Given the description of an element on the screen output the (x, y) to click on. 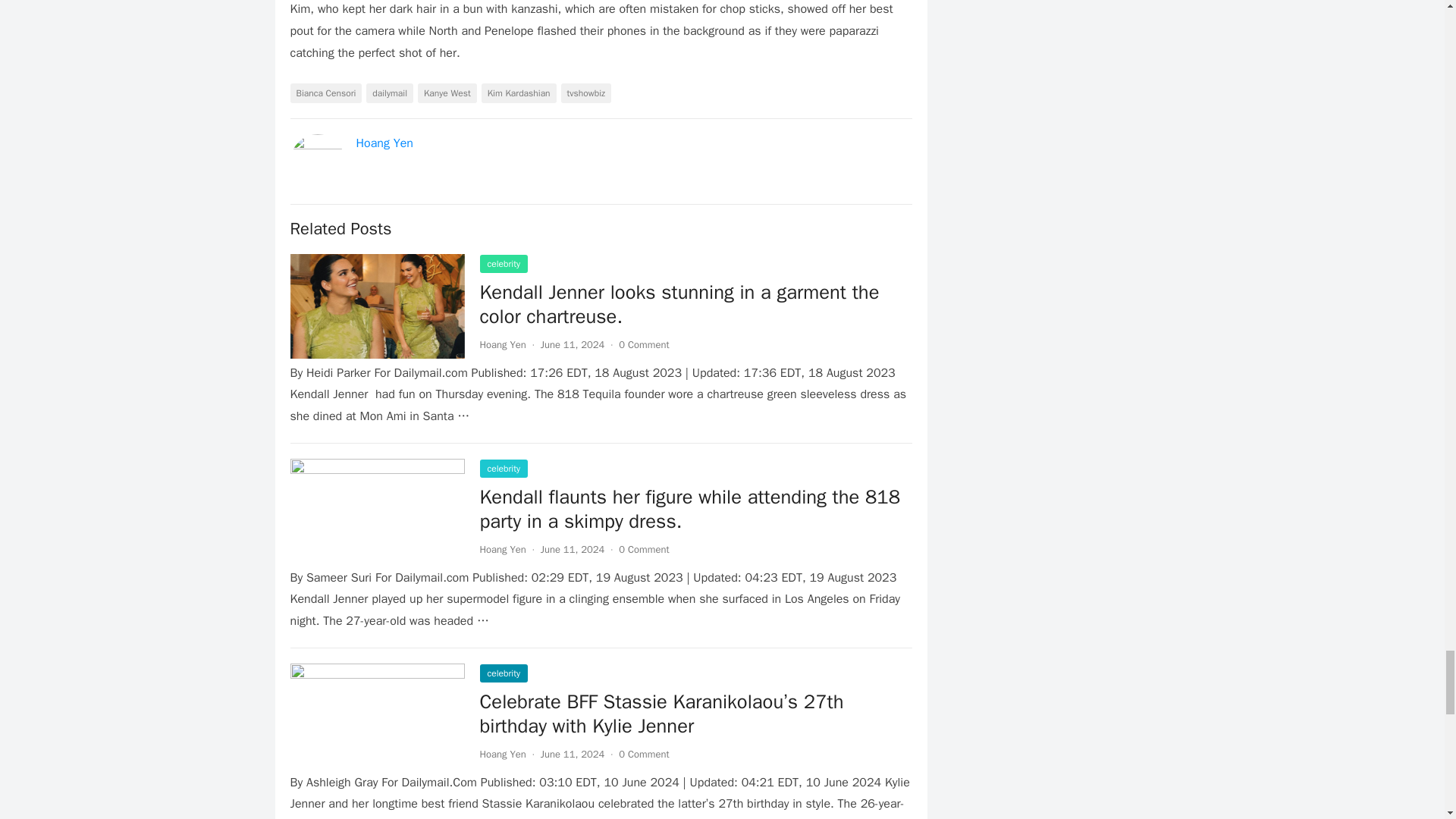
tvshowbiz (585, 93)
0 Comment (643, 344)
Kim Kardashian (518, 93)
celebrity (503, 263)
Hoang Yen (502, 549)
0 Comment (643, 549)
Posts by Hoang Yen (502, 549)
Hoang Yen (384, 142)
Bianca Censori (325, 93)
